Given the description of an element on the screen output the (x, y) to click on. 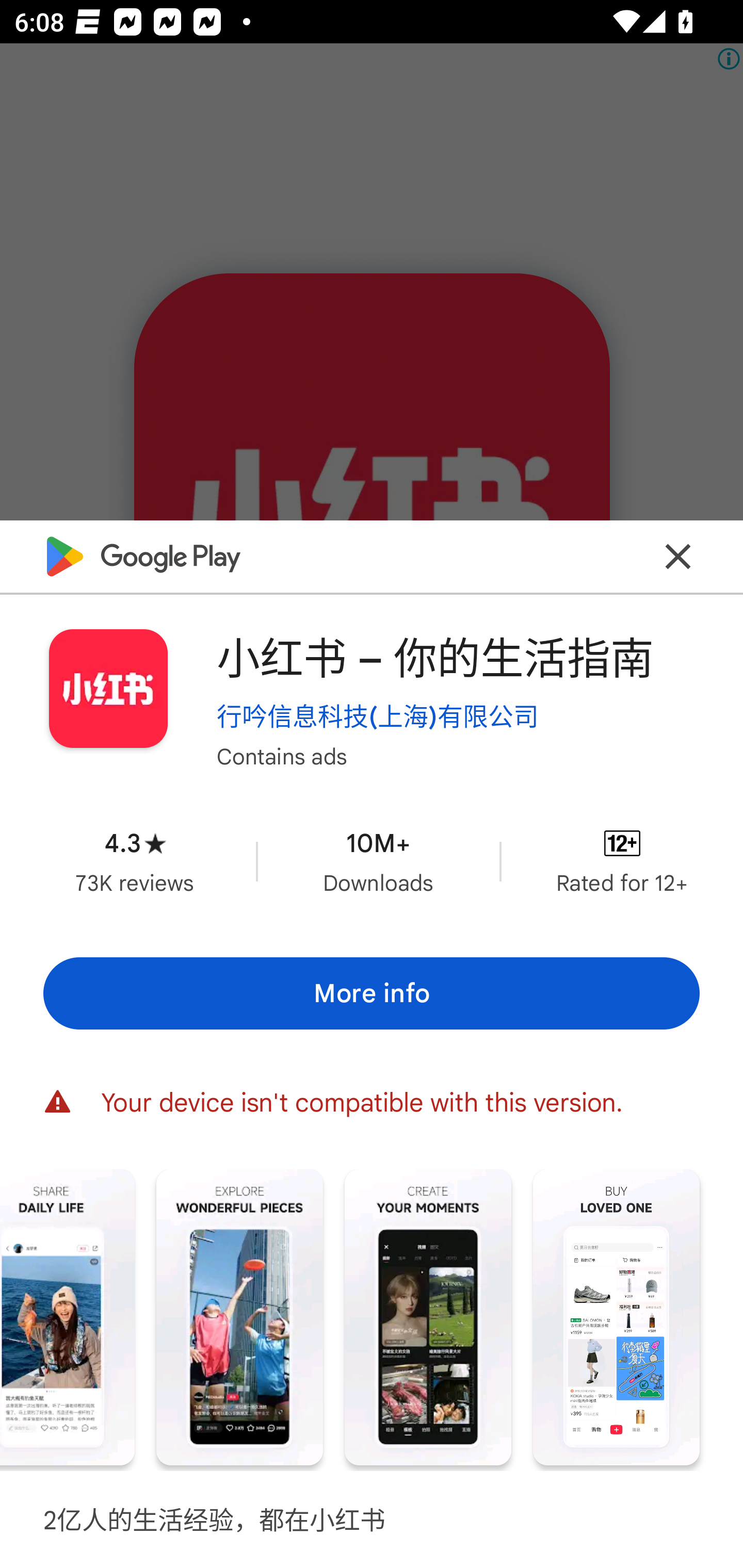
Close (677, 556)
Image of app or game icon for 小红书 – 你的生活指南 (108, 689)
行吟信息科技(上海)有限公司 (377, 716)
More info (371, 994)
Screenshot "2" of "5" (67, 1317)
Screenshot "3" of "5" (239, 1317)
Screenshot "4" of "5" (427, 1317)
Screenshot "5" of "5" (615, 1317)
